Given the description of an element on the screen output the (x, y) to click on. 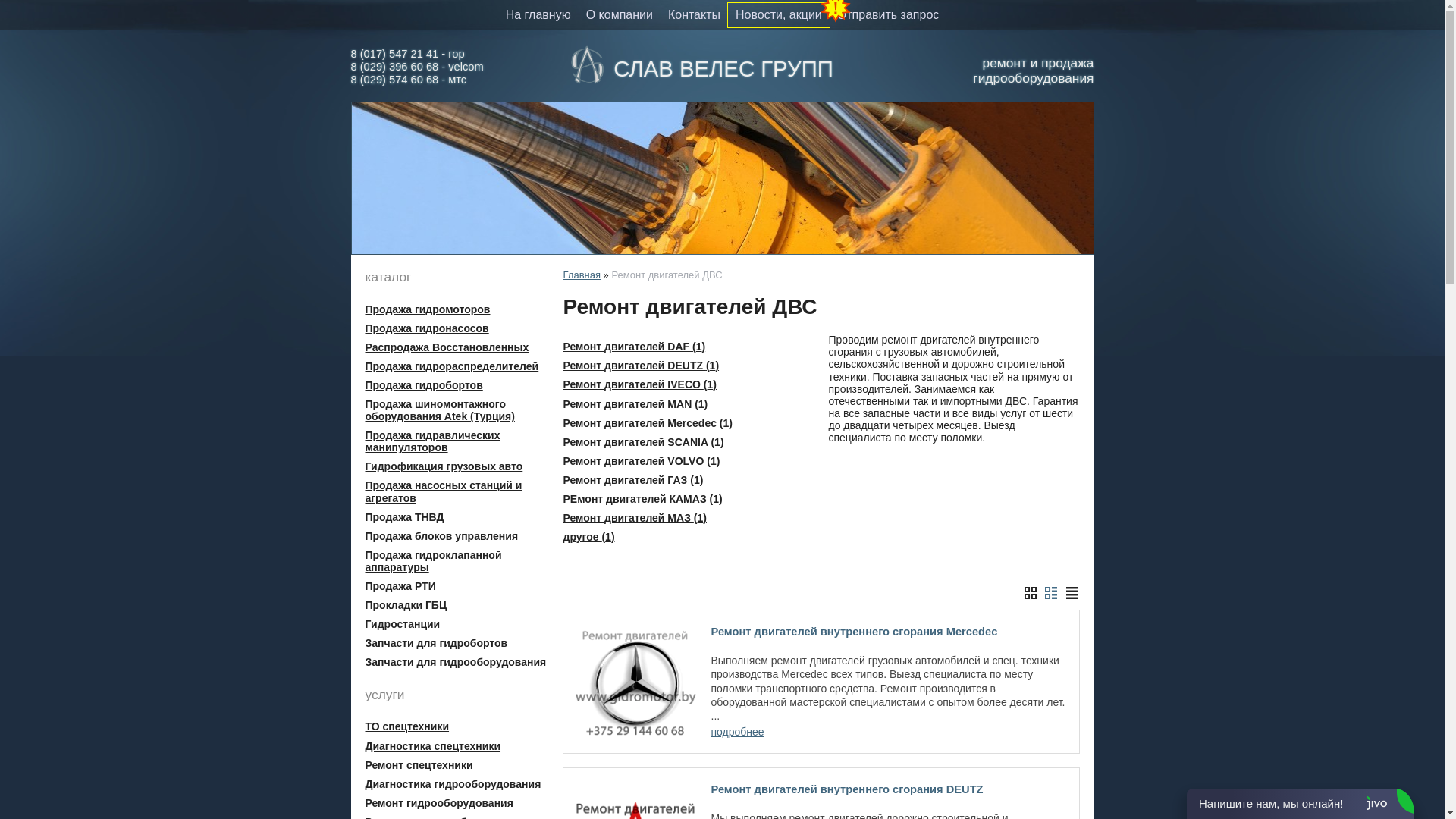
8 (029) 396 60 68 - velcom Element type: text (416, 66)
